Given the description of an element on the screen output the (x, y) to click on. 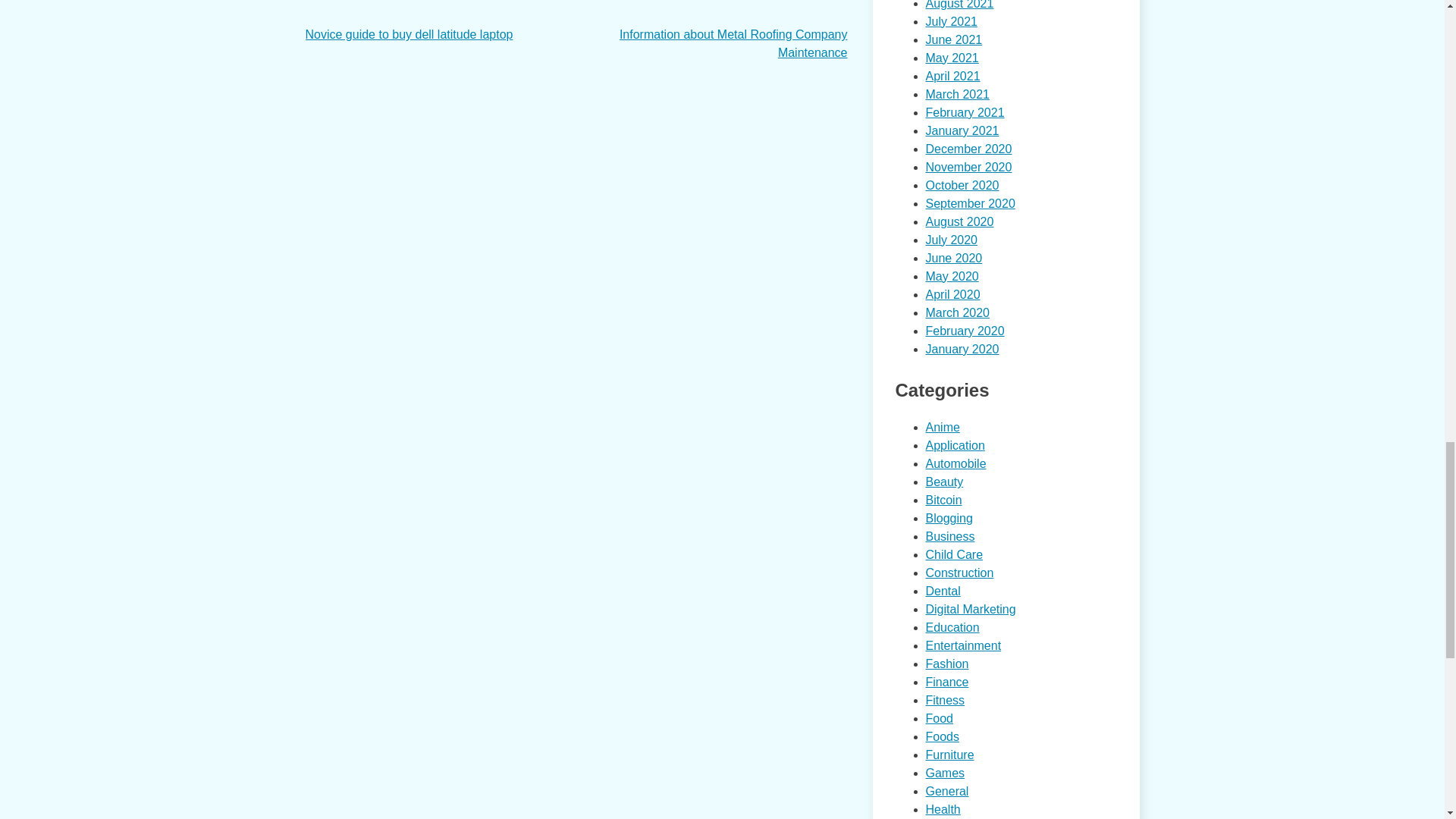
Novice guide to buy dell latitude laptop (408, 33)
Information about Metal Roofing Company Maintenance (733, 42)
